Given the description of an element on the screen output the (x, y) to click on. 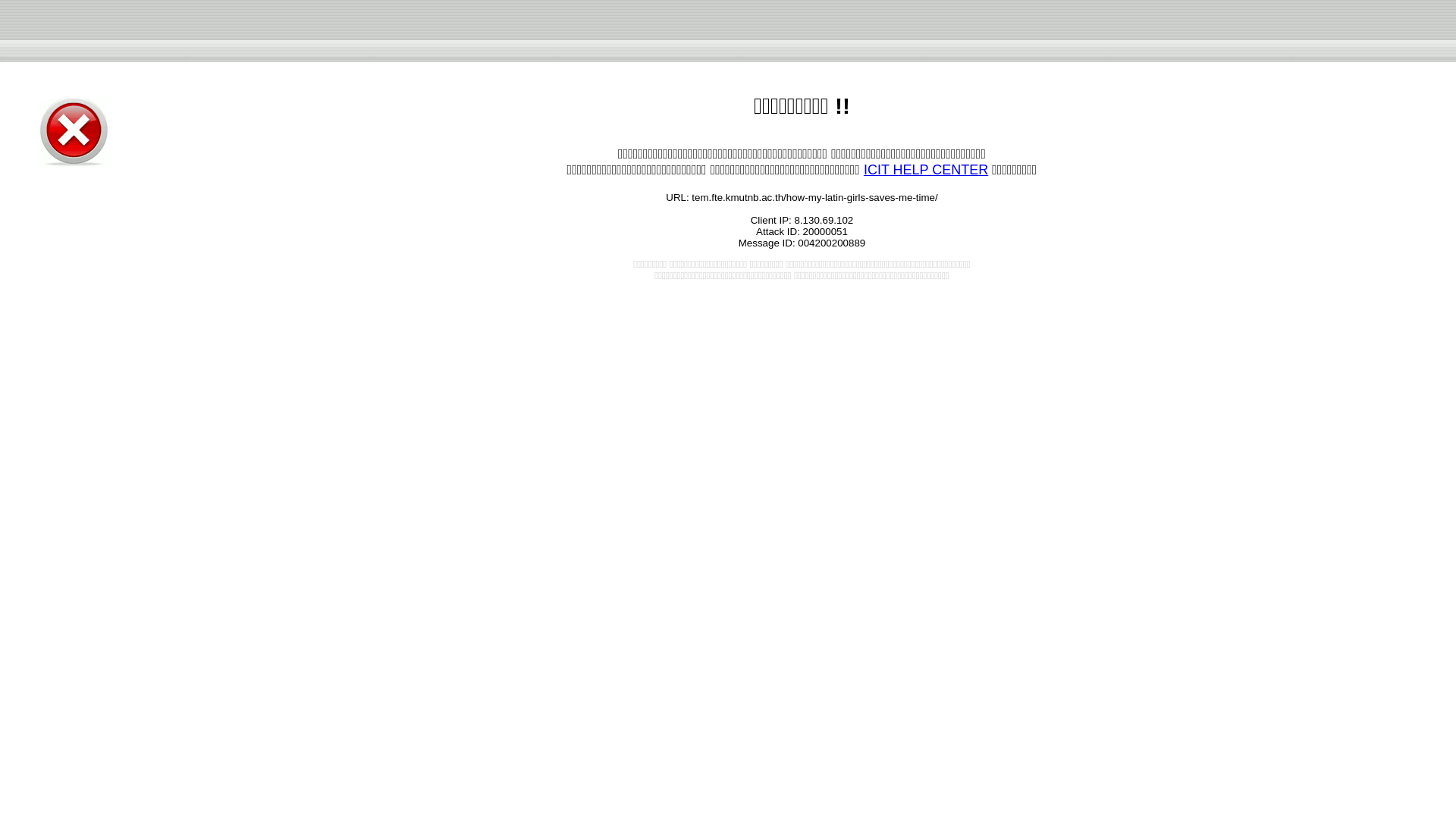
ICIT HELP CENTER (925, 169)
